Given the description of an element on the screen output the (x, y) to click on. 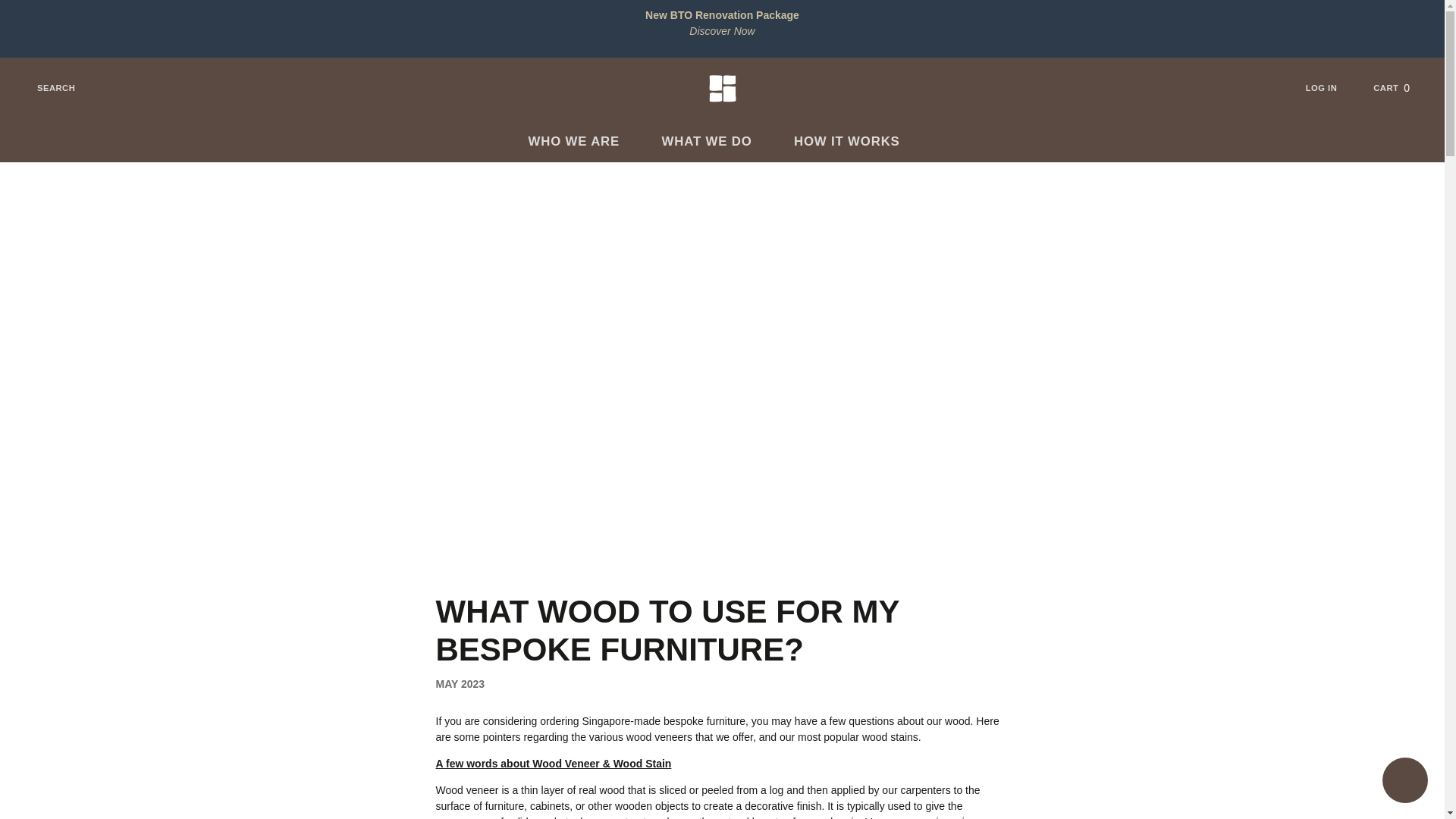
WHAT WE DO (714, 141)
HOW IT WORKS (854, 141)
WHO WE ARE (582, 141)
SEARCH (1400, 88)
LOG IN (45, 88)
Shopify online store chat (1332, 88)
